Given the description of an element on the screen output the (x, y) to click on. 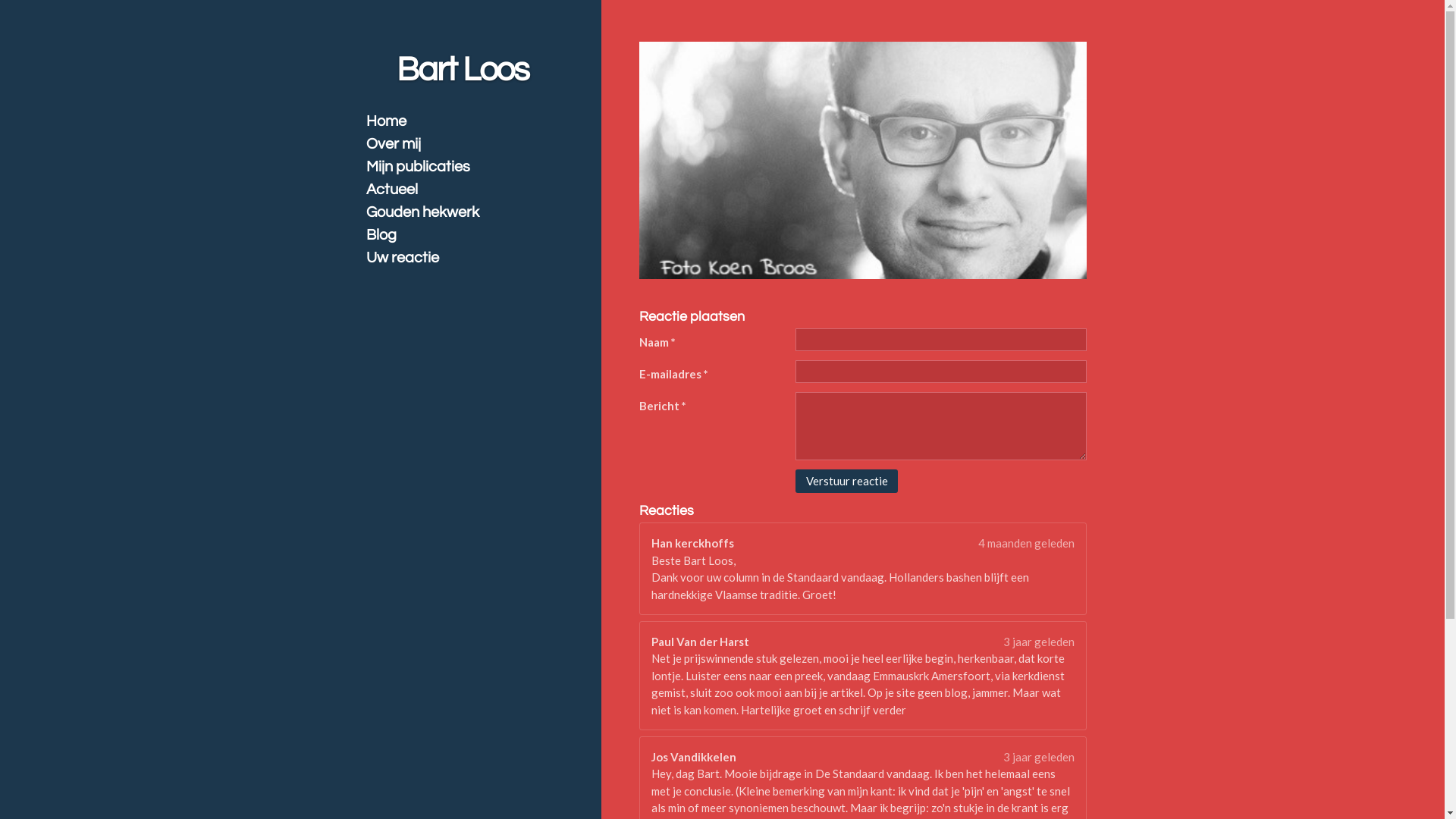
Bart Loos Element type: text (462, 69)
Verstuur reactie Element type: text (846, 481)
Actueel Element type: text (467, 189)
Uw reactie Element type: text (467, 257)
Home Element type: text (467, 120)
Mijn publicaties Element type: text (467, 166)
Blog Element type: text (467, 234)
Over mij Element type: text (467, 143)
Gouden hekwerk Element type: text (467, 211)
